Given the description of an element on the screen output the (x, y) to click on. 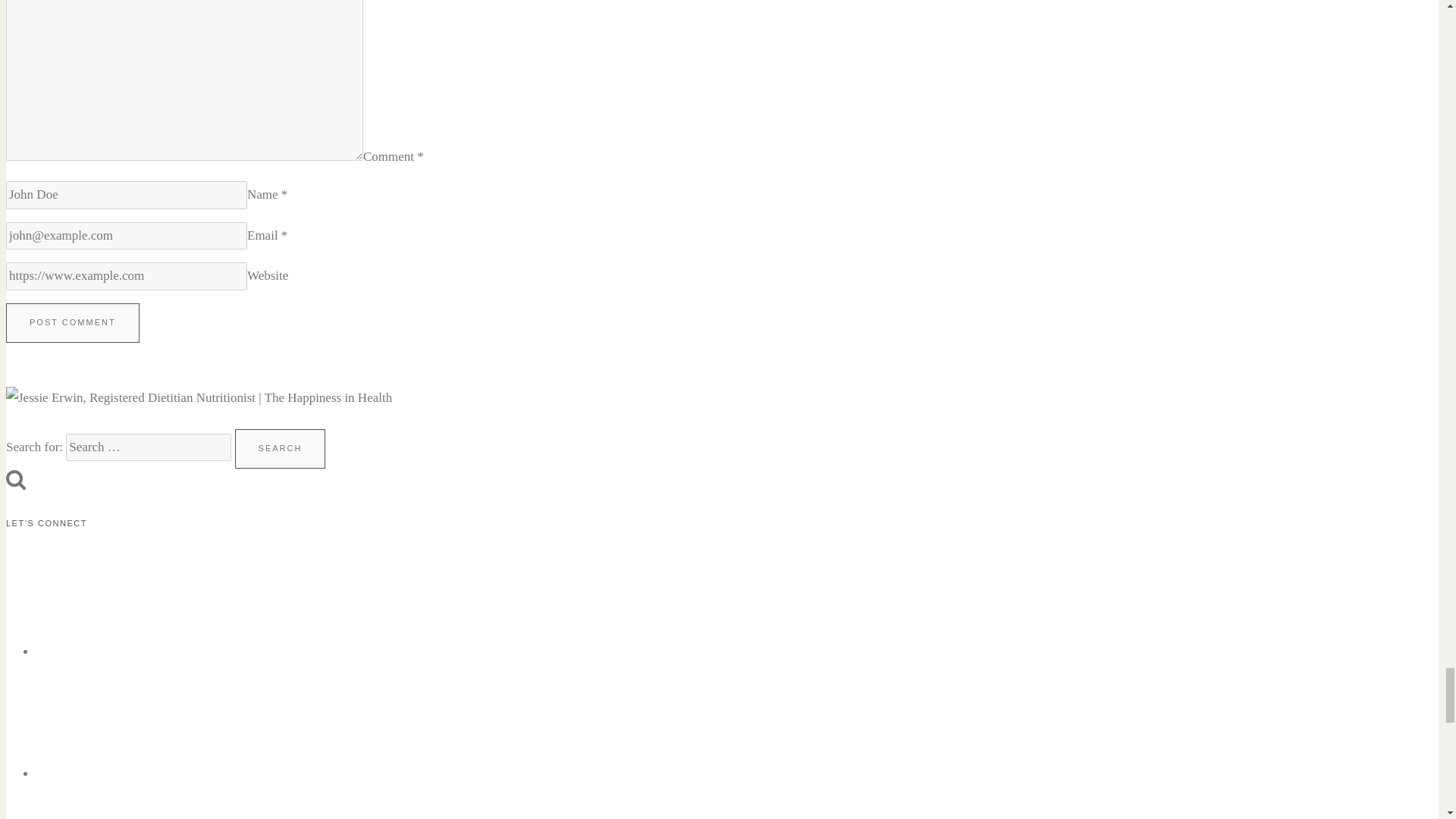
Search (280, 448)
Search (280, 448)
Facebook (149, 721)
Search (15, 478)
Instagram (149, 802)
Email (149, 599)
Post Comment (72, 323)
